Given the description of an element on the screen output the (x, y) to click on. 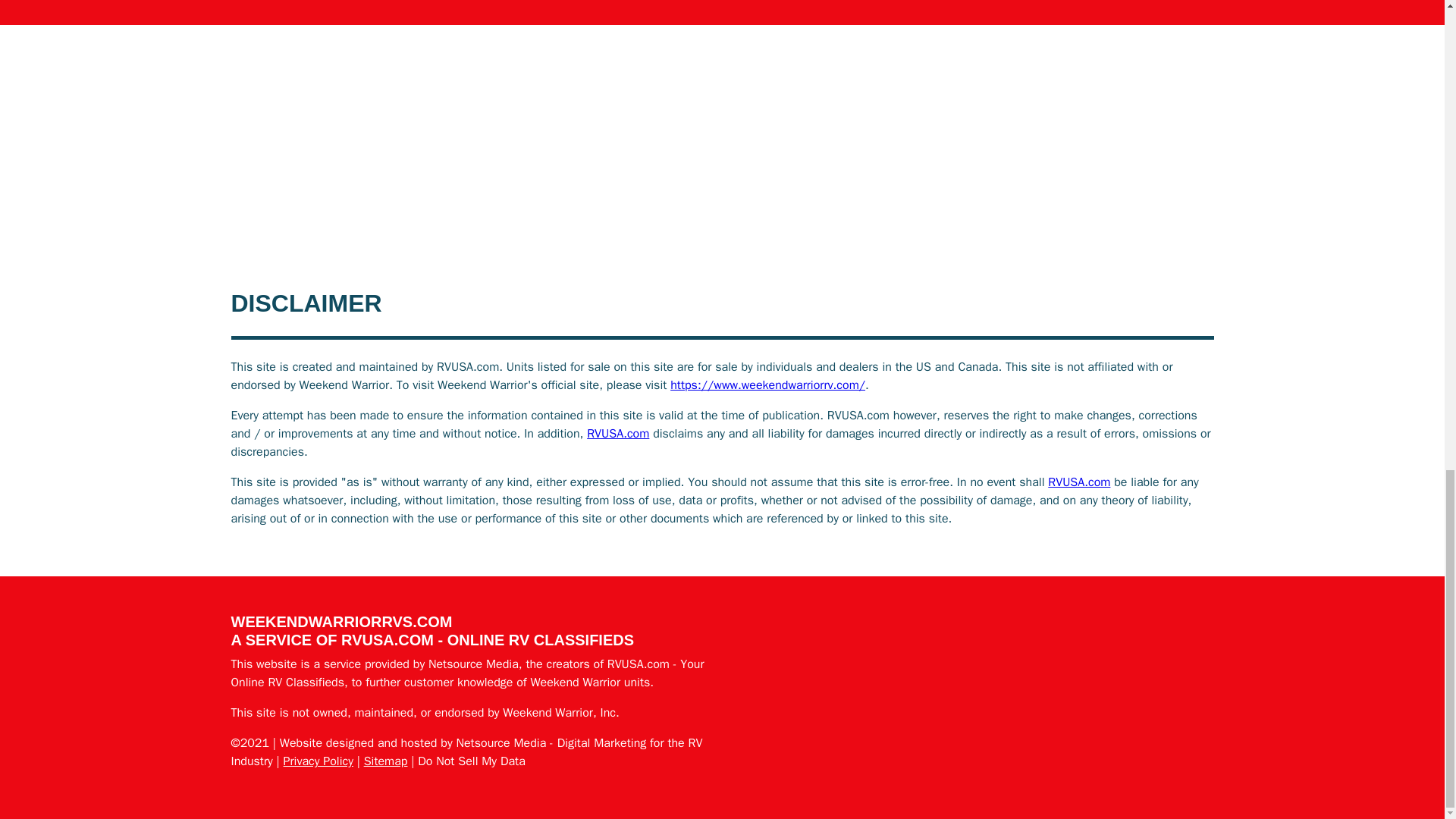
Do Not Sell My Data (471, 761)
RVUSA.com (1078, 482)
Privacy Policy (318, 761)
RVUSA.com (617, 433)
Sitemap (385, 761)
